Given the description of an element on the screen output the (x, y) to click on. 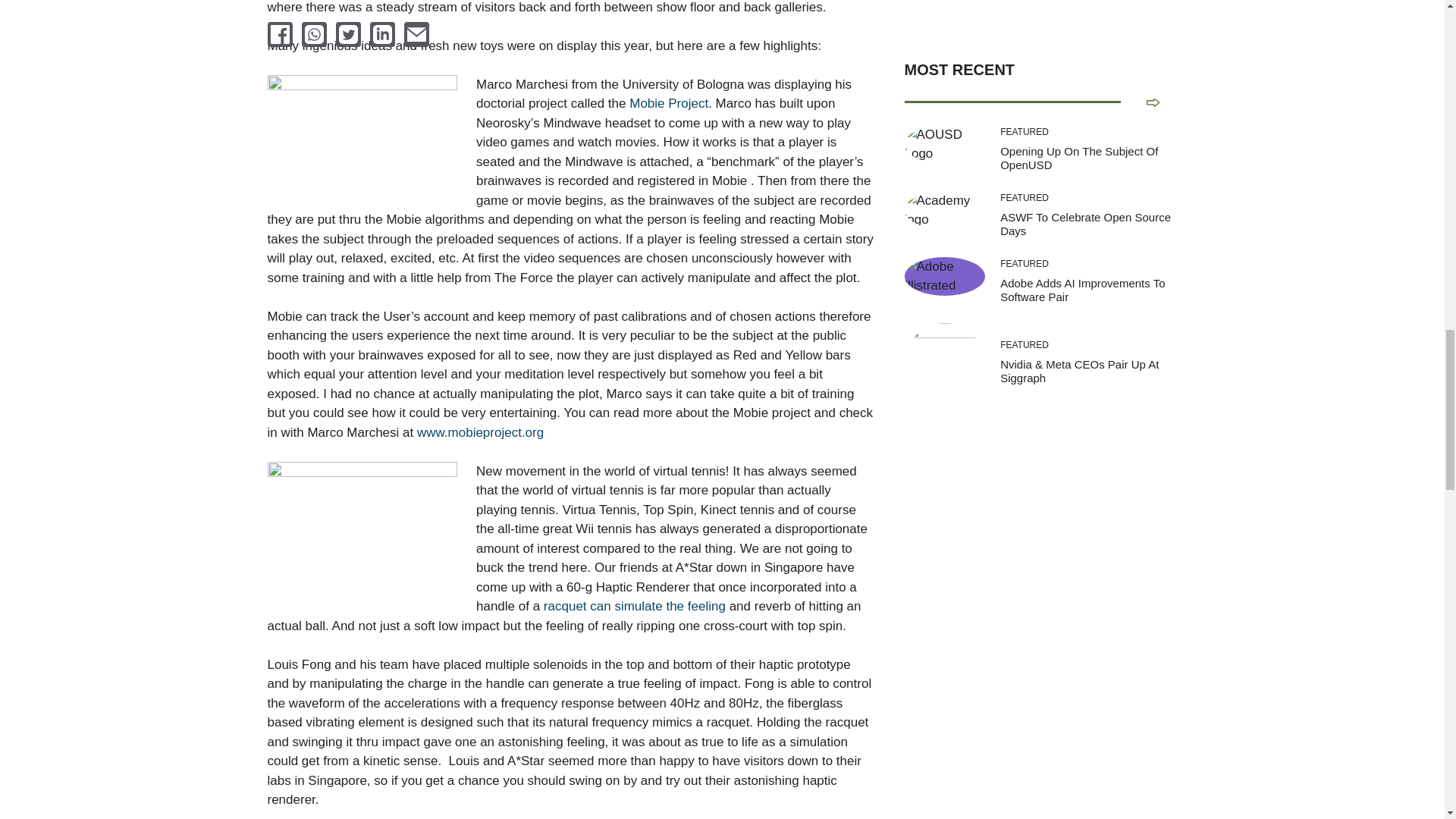
Mobie Project (667, 103)
tennis (361, 532)
www.mobieproject.org (479, 432)
mobie (361, 137)
